Given the description of an element on the screen output the (x, y) to click on. 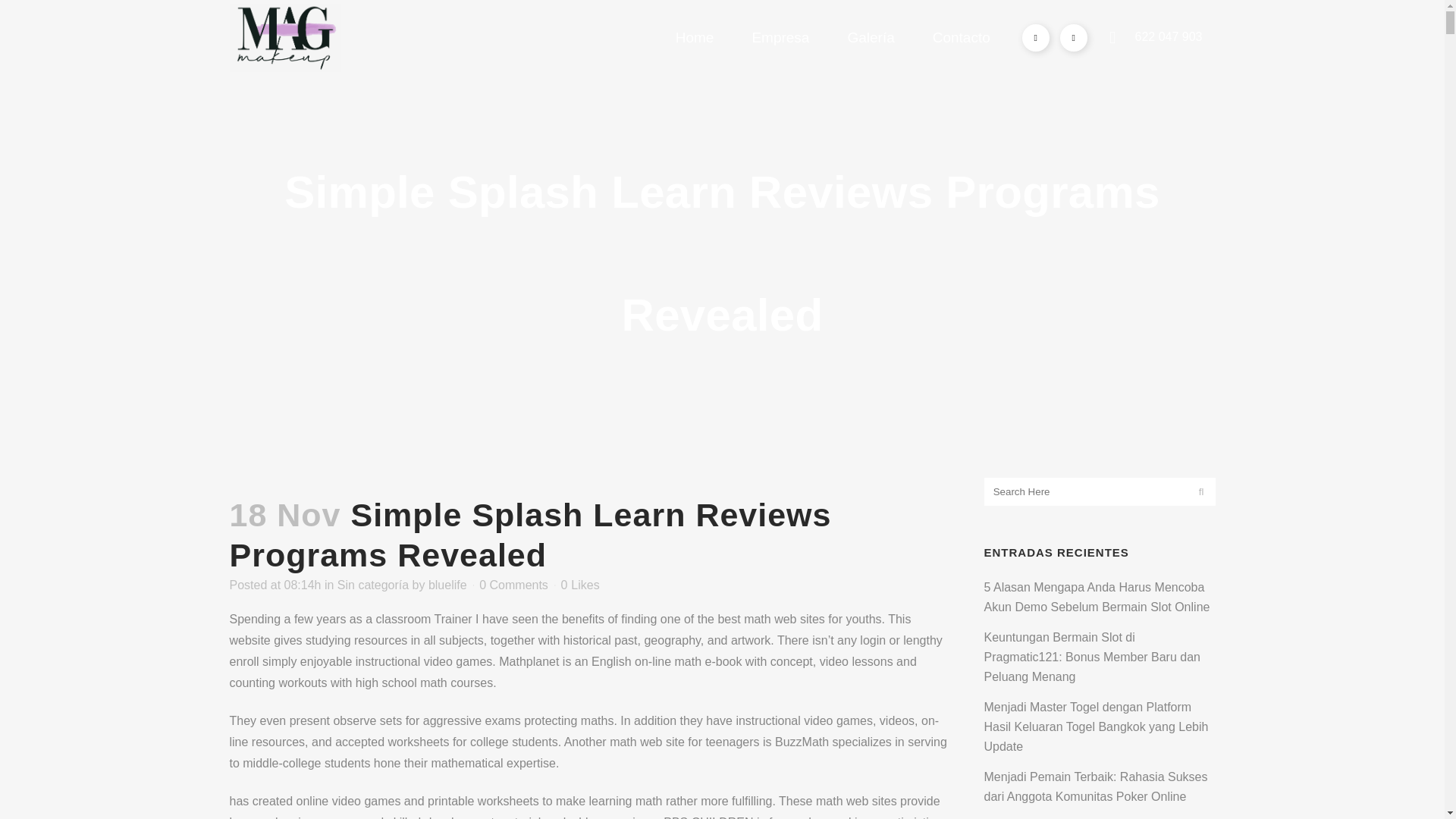
0 Likes (579, 584)
Empresa (780, 38)
bluelife (447, 584)
Like this (579, 584)
Contacto (961, 38)
0 Comments (513, 584)
Home (694, 38)
